Given the description of an element on the screen output the (x, y) to click on. 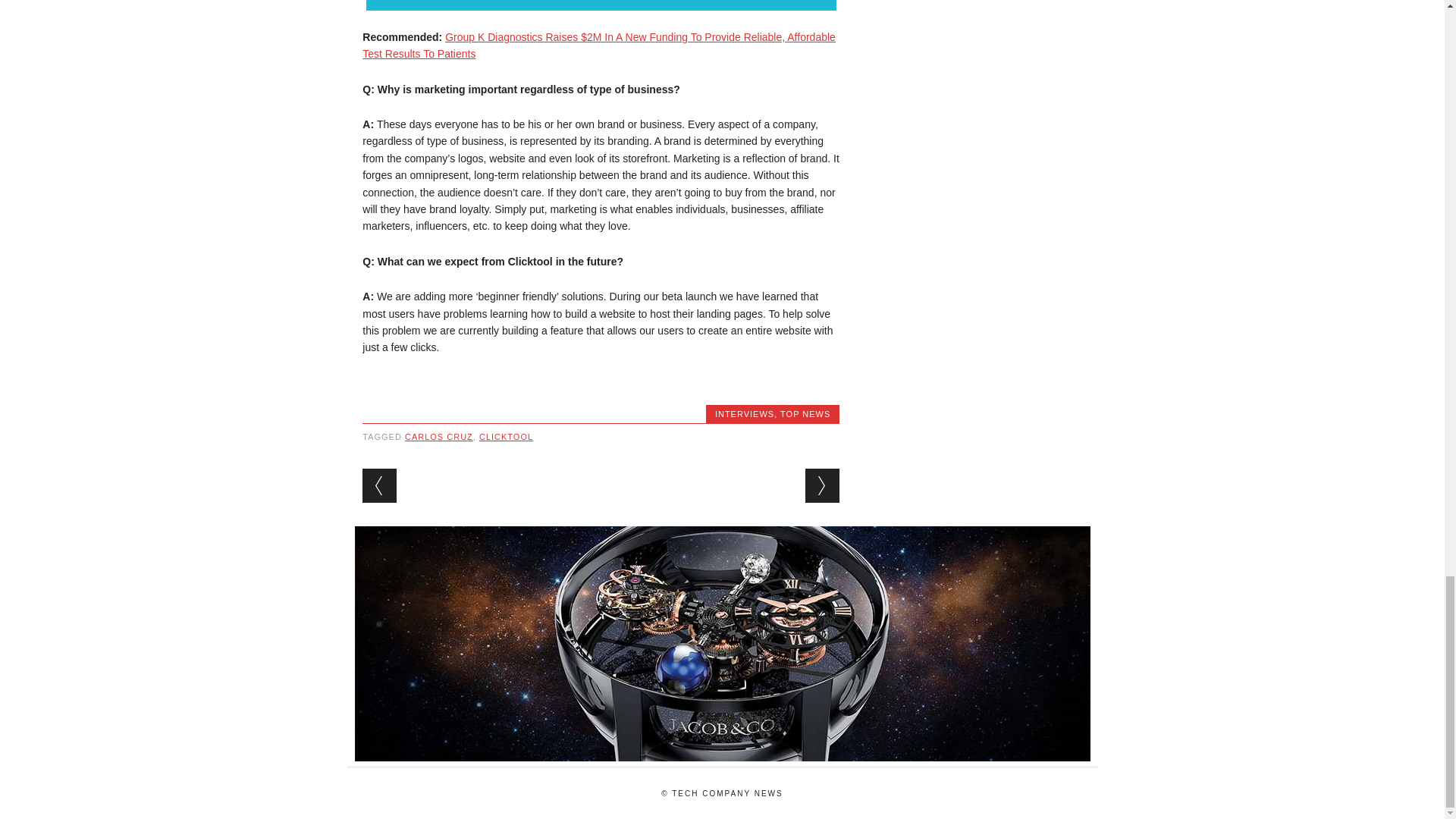
CARLOS CRUZ (438, 436)
TOP NEWS (804, 413)
INTERVIEWS (744, 413)
CLICKTOOL (505, 436)
